Given the description of an element on the screen output the (x, y) to click on. 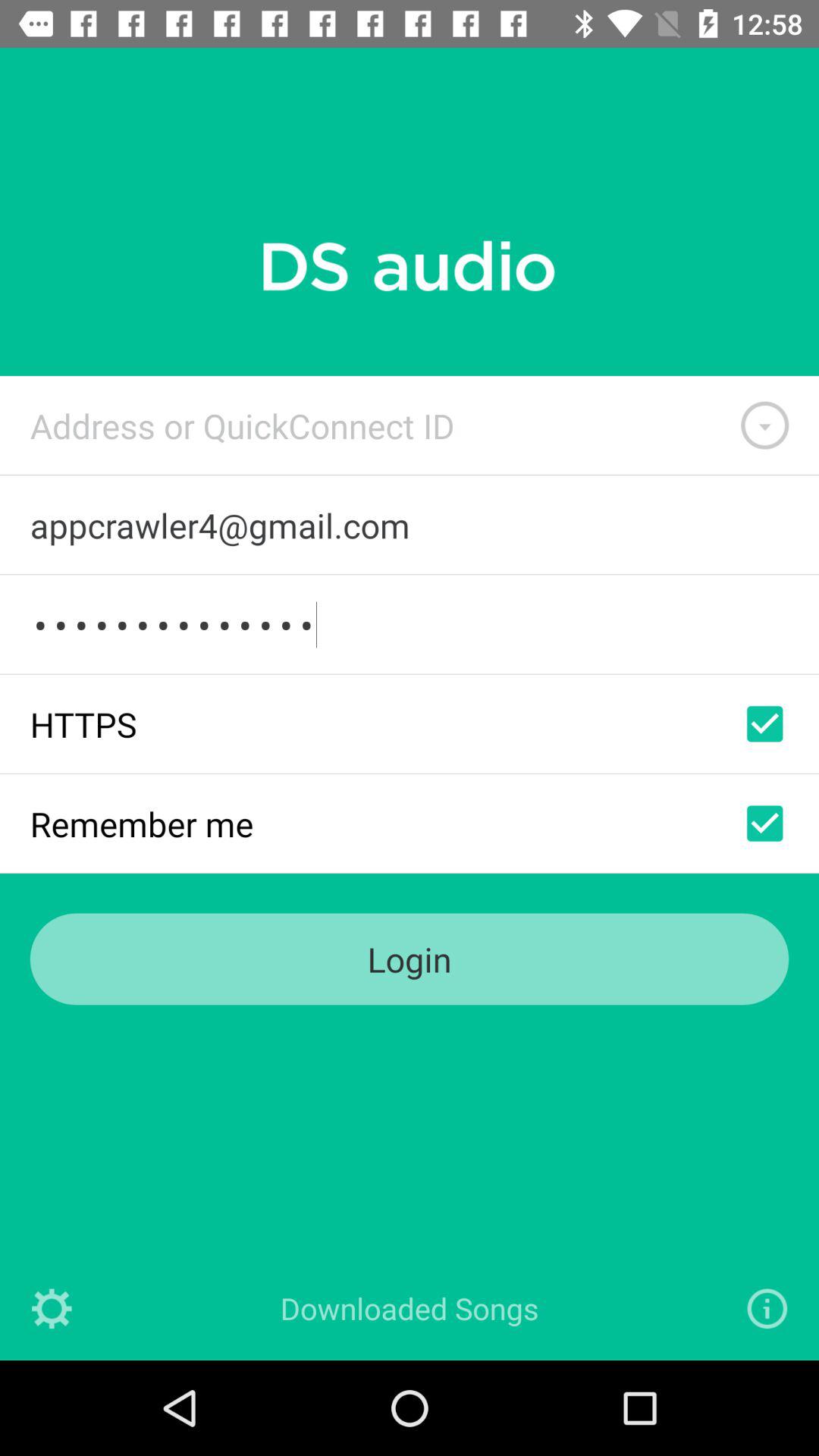
toggle https off (764, 723)
